Given the description of an element on the screen output the (x, y) to click on. 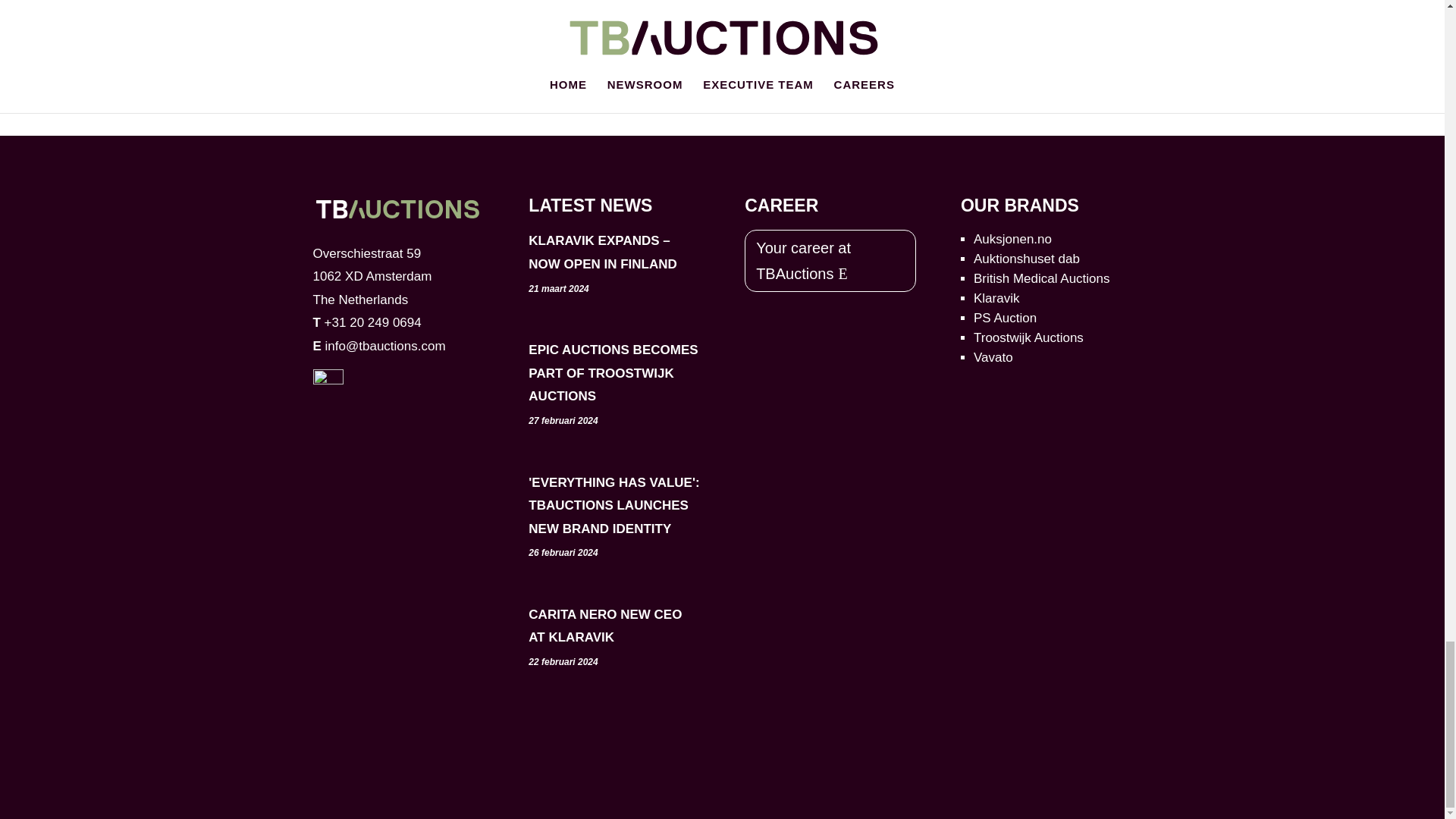
PS AUCTION (1005, 318)
Auktionshuset dab (1027, 258)
Troostwijk auctions (1028, 337)
Your career at TBAuctions (829, 260)
CARITA NERO NEW CEO AT KLARAVIK (604, 626)
Klaravik (996, 298)
Vavato (993, 357)
BMA (1041, 278)
Lees meer (933, 4)
Auksjonen (1012, 238)
Auksjonen.no (1012, 238)
EPIC AUCTIONS BECOMES PART OF TROOSTWIJK AUCTIONS (612, 373)
Lees meer (357, 6)
Lees meer (646, 24)
